Given the description of an element on the screen output the (x, y) to click on. 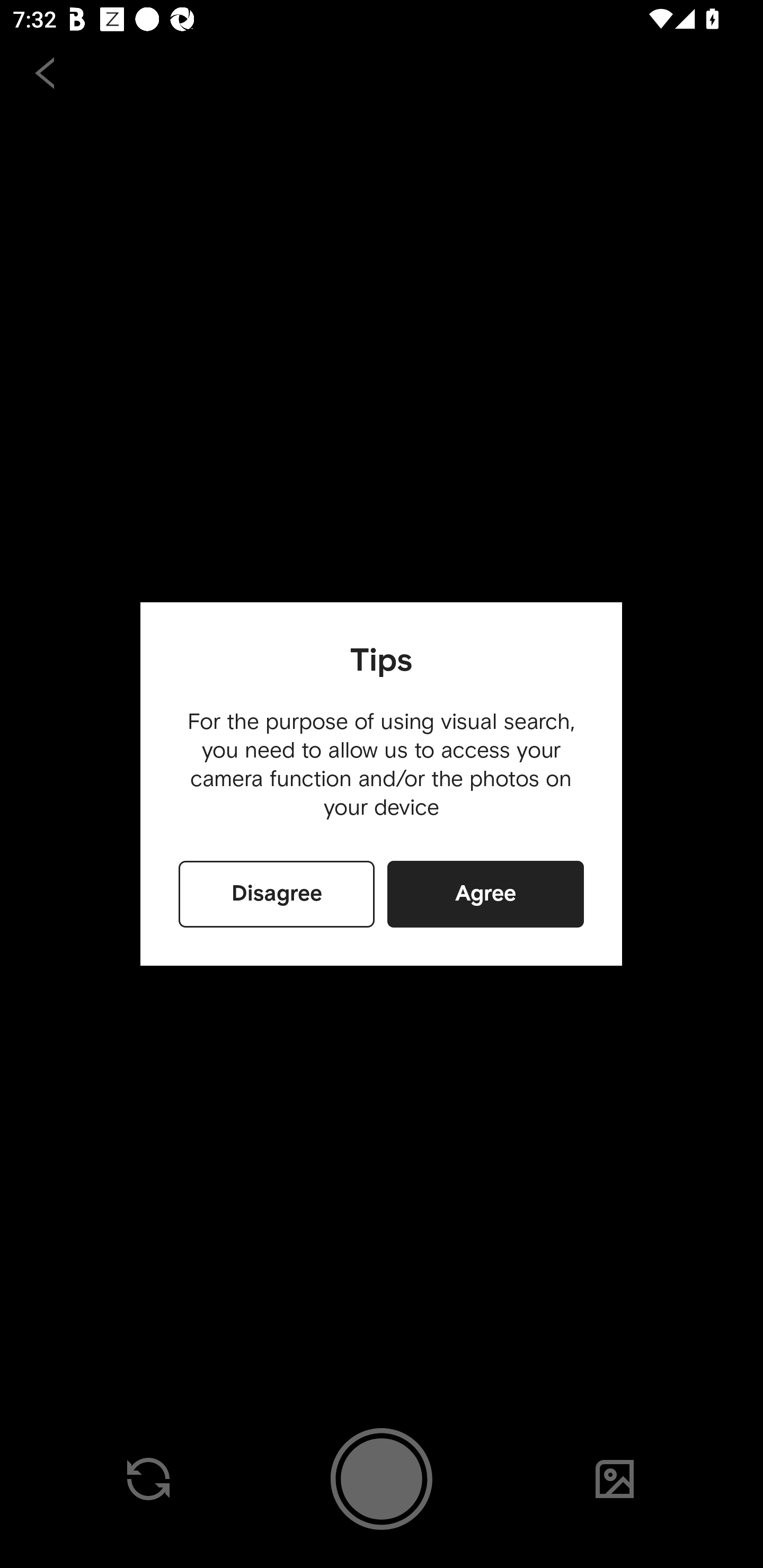
Disagree (276, 894)
Agree (485, 894)
